Given the description of an element on the screen output the (x, y) to click on. 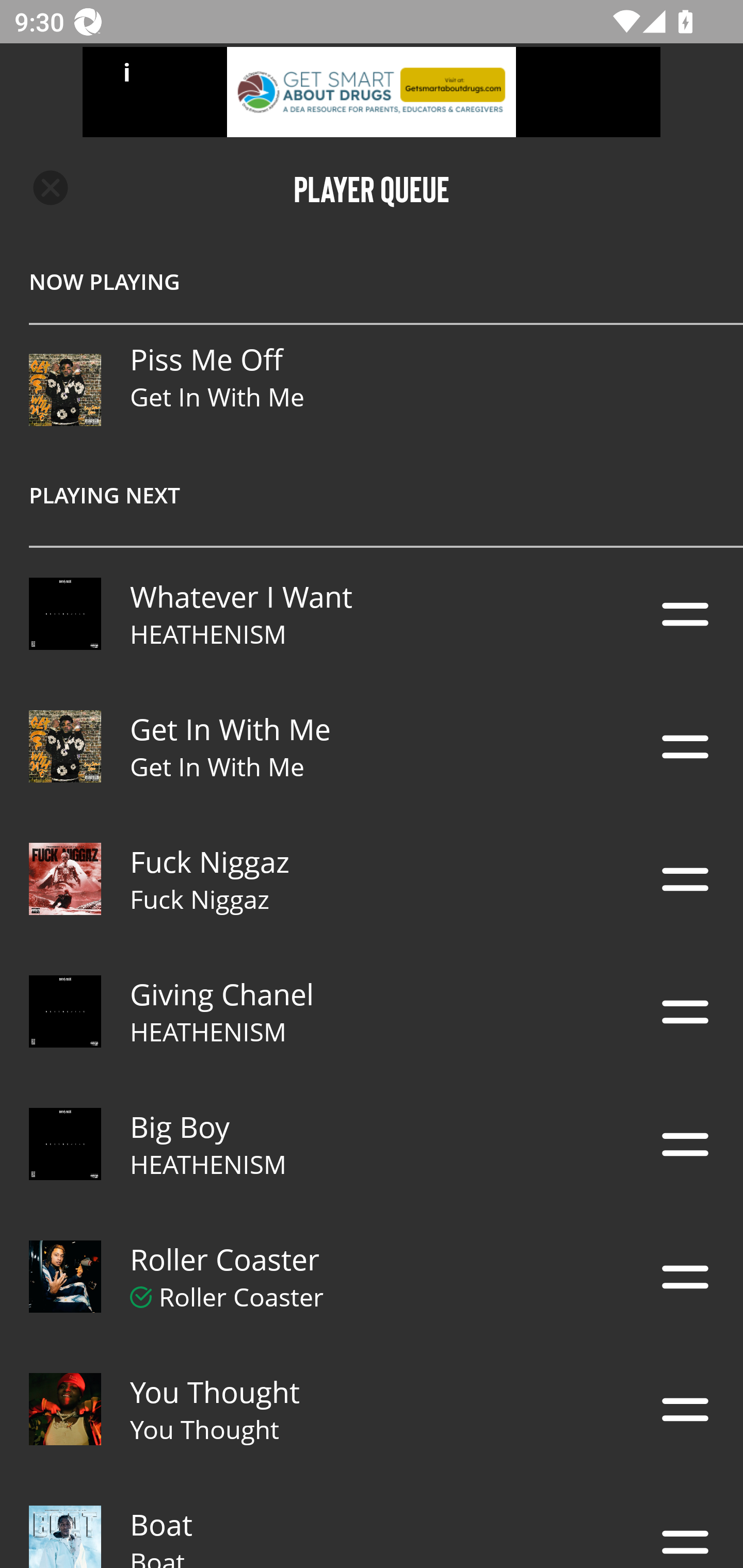
Navigate up (50, 187)
Description Whatever I Want HEATHENISM Description (371, 613)
Description Fuck Niggaz Fuck Niggaz Description (371, 878)
Description Giving Chanel HEATHENISM Description (371, 1011)
Description Big Boy HEATHENISM Description (371, 1144)
Description You Thought You Thought Description (371, 1409)
Description Boat Boat Description (371, 1521)
